Given the description of an element on the screen output the (x, y) to click on. 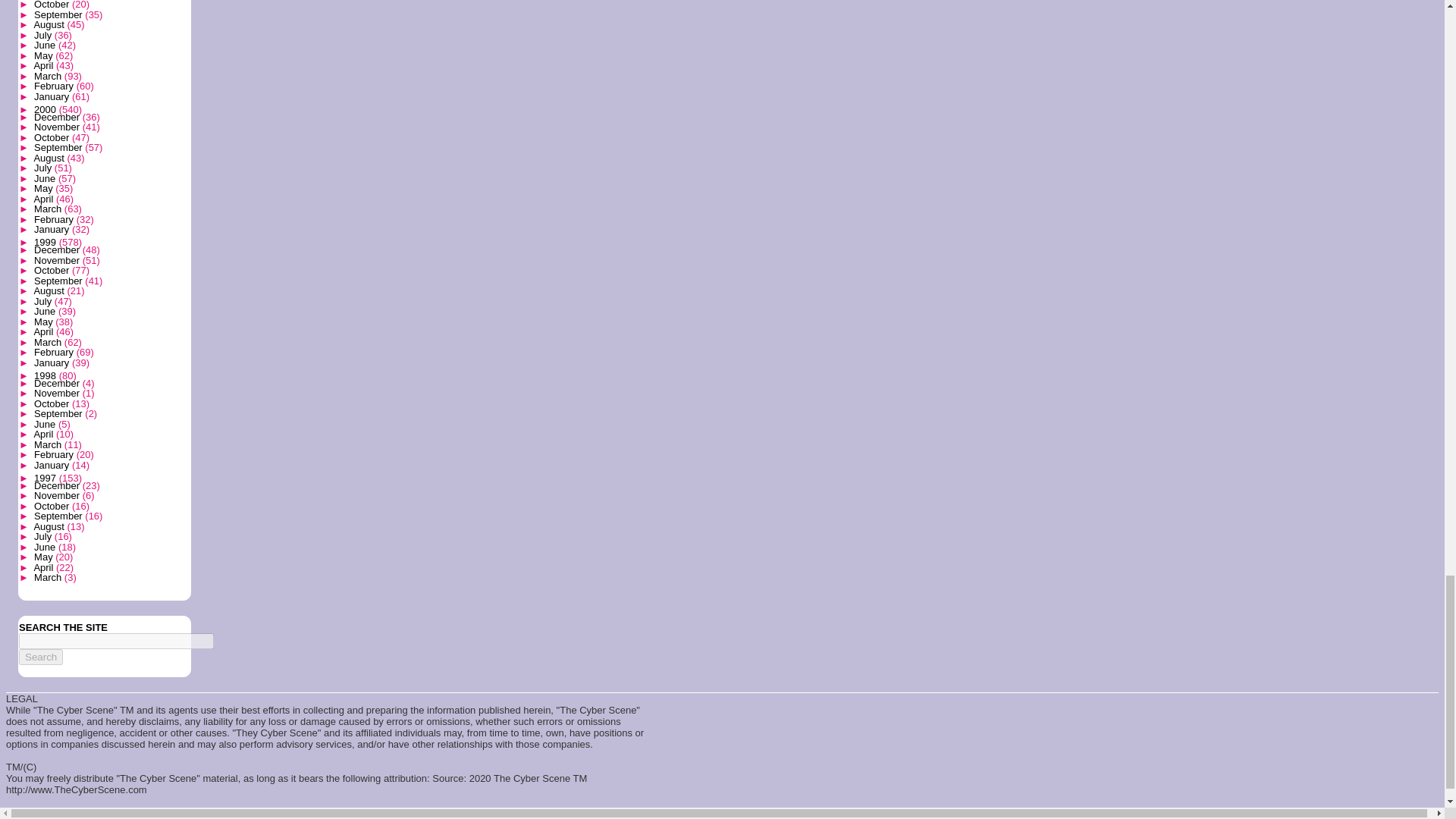
Search (40, 657)
